Given the description of an element on the screen output the (x, y) to click on. 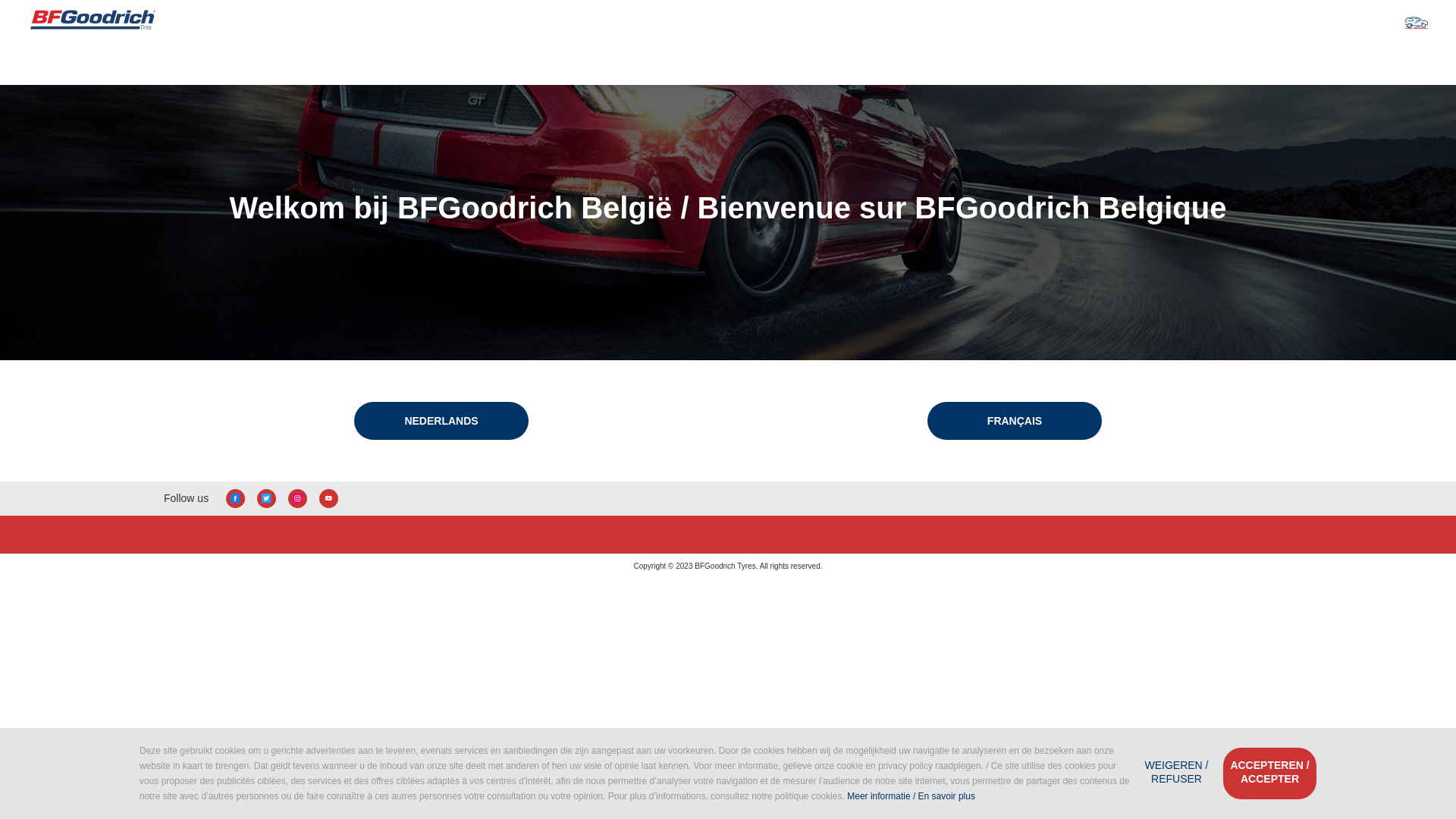
Meer informatie / En savoir plus Element type: text (911, 795)
Twitter Element type: hover (266, 498)
Homepage Element type: hover (92, 20)
WEIGEREN / REFUSER Element type: text (1176, 773)
Youtube Element type: hover (328, 498)
Facebook Element type: hover (234, 498)
Kies je taal / Choisissez votre langue Element type: text (1410, 21)
NEDERLANDS Element type: text (441, 420)
Instagram Element type: hover (297, 498)
ACCEPTEREN / ACCEPTER Element type: text (1269, 773)
